Given the description of an element on the screen output the (x, y) to click on. 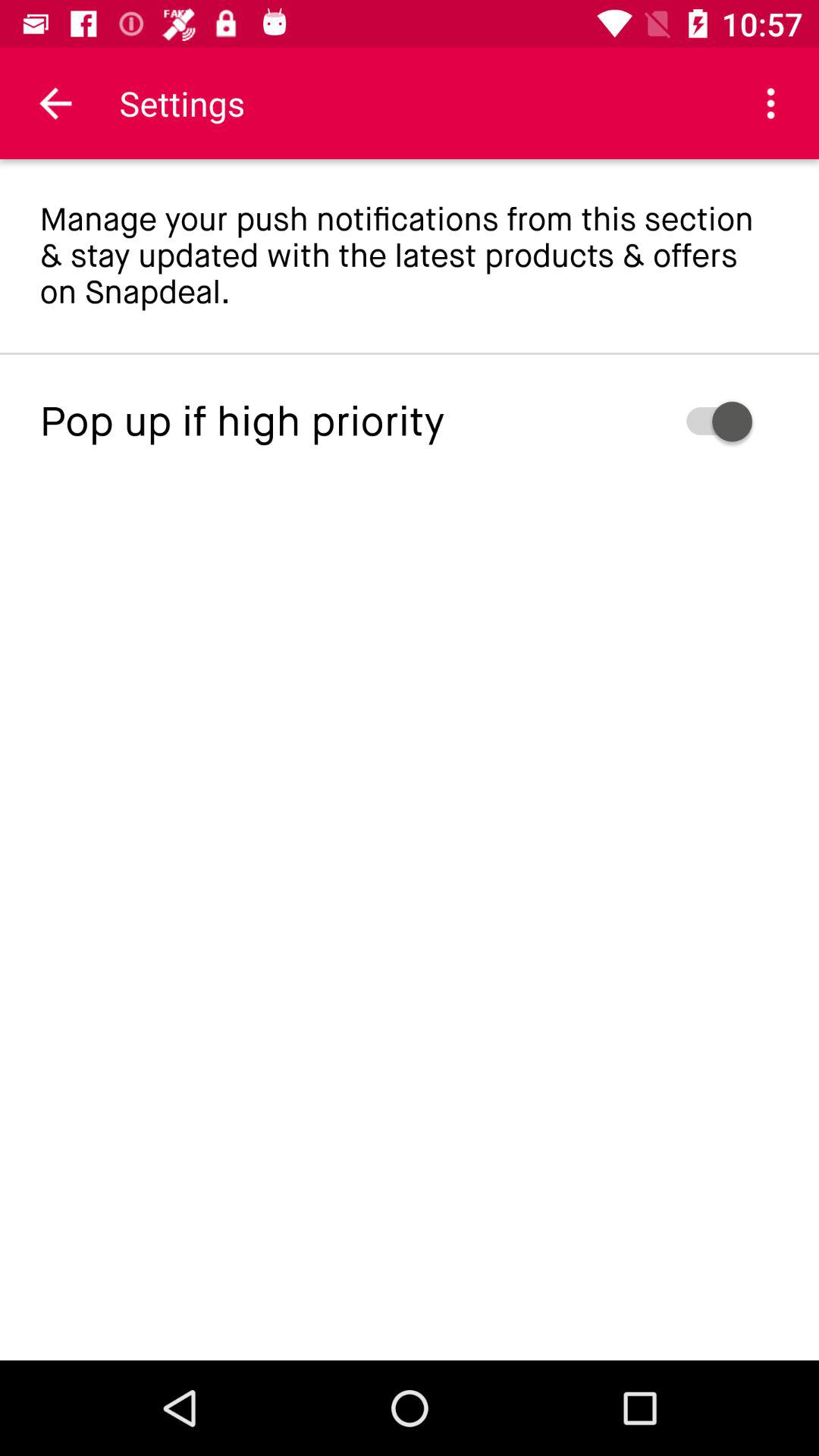
go to previous page (55, 103)
